Given the description of an element on the screen output the (x, y) to click on. 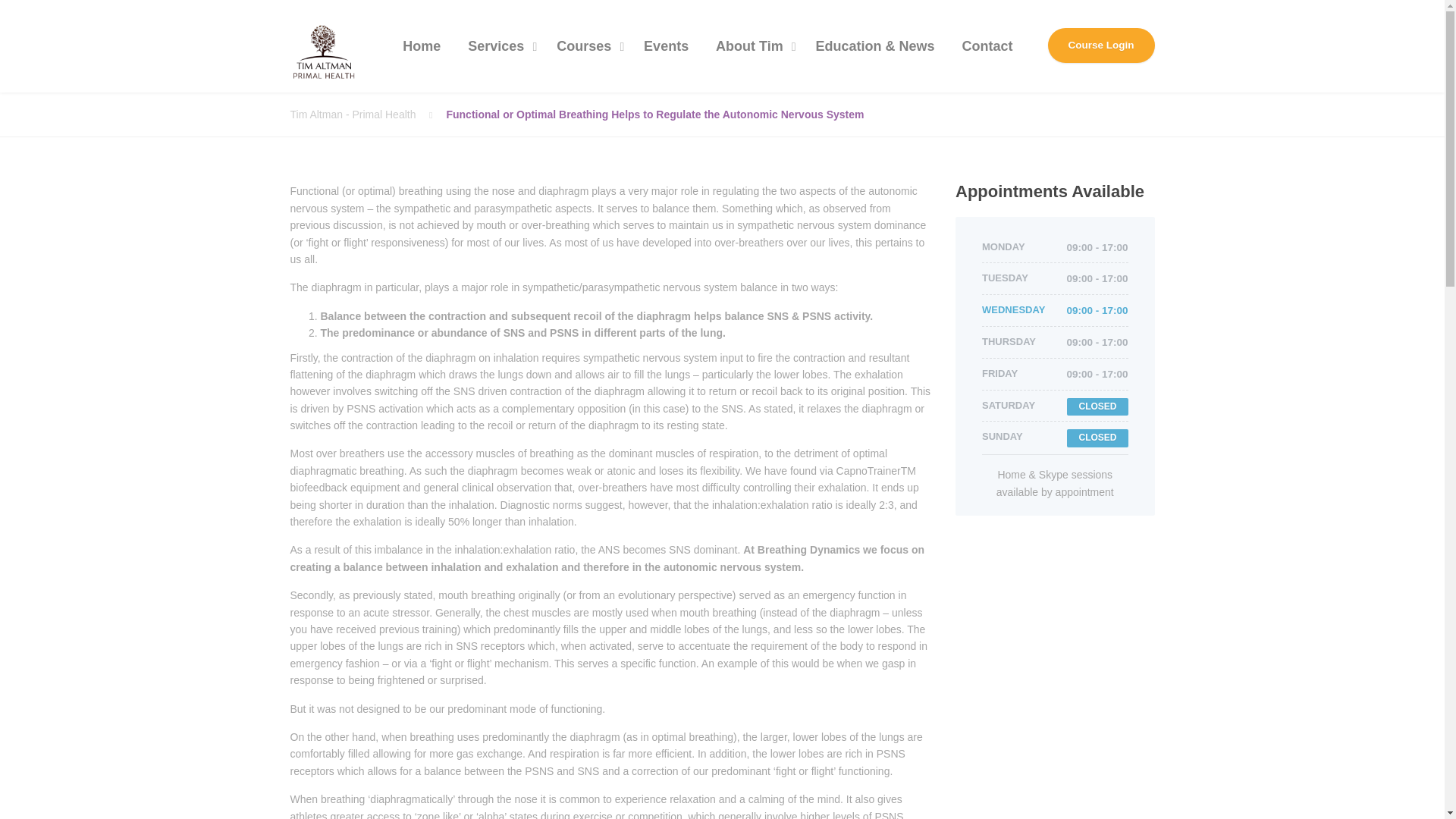
Courses (586, 46)
Go to Tim Altman - Primal Health. (367, 114)
About Tim (751, 46)
Course Login (1101, 45)
Services (498, 46)
Tim Altman - Primal Health (367, 114)
